Given the description of an element on the screen output the (x, y) to click on. 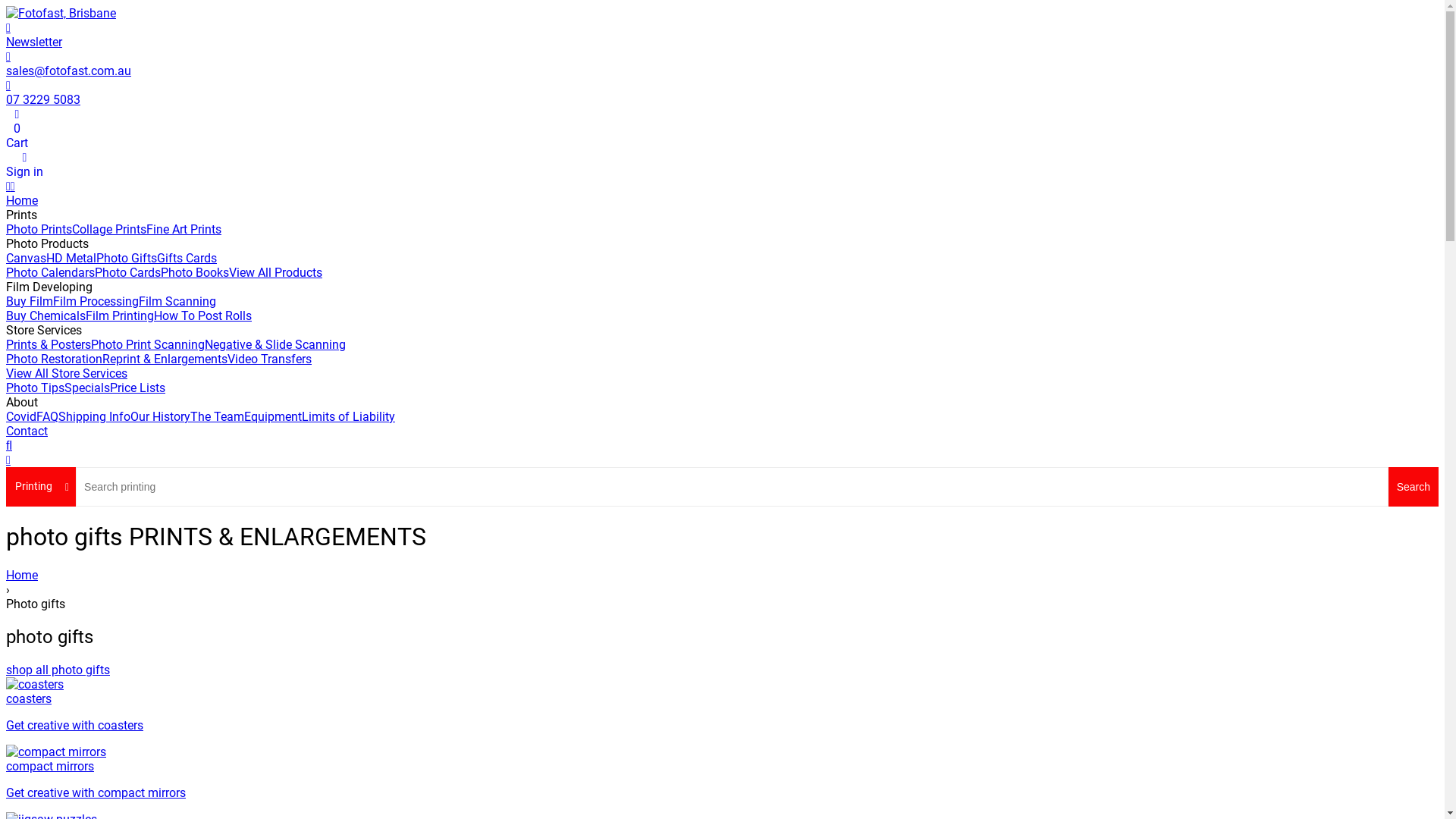
Shipping Info Element type: text (94, 416)
Buy Chemicals Element type: text (45, 315)
Limits of Liability Element type: text (348, 416)
shop all photo gifts Element type: text (57, 669)
Home Element type: text (21, 200)
The Team Element type: text (217, 416)
Home Element type: text (722, 574)
Covid Element type: text (21, 416)
View All Products Element type: text (275, 272)
Photo Prints Element type: text (39, 229)
Photo Print Scanning Element type: text (147, 344)
Video Transfers Element type: text (269, 358)
Equipment Element type: text (272, 416)
Film Printing Element type: text (119, 315)
Contact Element type: text (26, 430)
Gifts Cards Element type: text (186, 258)
Negative & Slide Scanning Element type: text (274, 344)
Fine Art Prints Element type: text (183, 229)
Film Scanning Element type: text (177, 301)
View All Store Services Element type: text (66, 373)
Photo Calendars Element type: text (50, 272)
Photo Books Element type: text (194, 272)
Prints & Posters Element type: text (48, 344)
Canvas Element type: text (26, 258)
Photo Tips Element type: text (35, 387)
How To Post Rolls Element type: text (202, 315)
Film Processing Element type: text (95, 301)
coasters
Get creative with coasters Element type: text (722, 704)
Photo Cards Element type: text (127, 272)
Buy Film Element type: text (29, 301)
Search Element type: text (1413, 486)
Photo Restoration Element type: text (54, 358)
Specials Element type: text (86, 387)
Photo Gifts Element type: text (126, 258)
HD Metal Element type: text (71, 258)
Price Lists Element type: text (137, 387)
Collage Prints Element type: text (109, 229)
Our History Element type: text (160, 416)
Reprint & Enlargements Element type: text (164, 358)
compact mirrors
Get creative with compact mirrors Element type: text (722, 772)
FAQ Element type: text (47, 416)
